Given the description of an element on the screen output the (x, y) to click on. 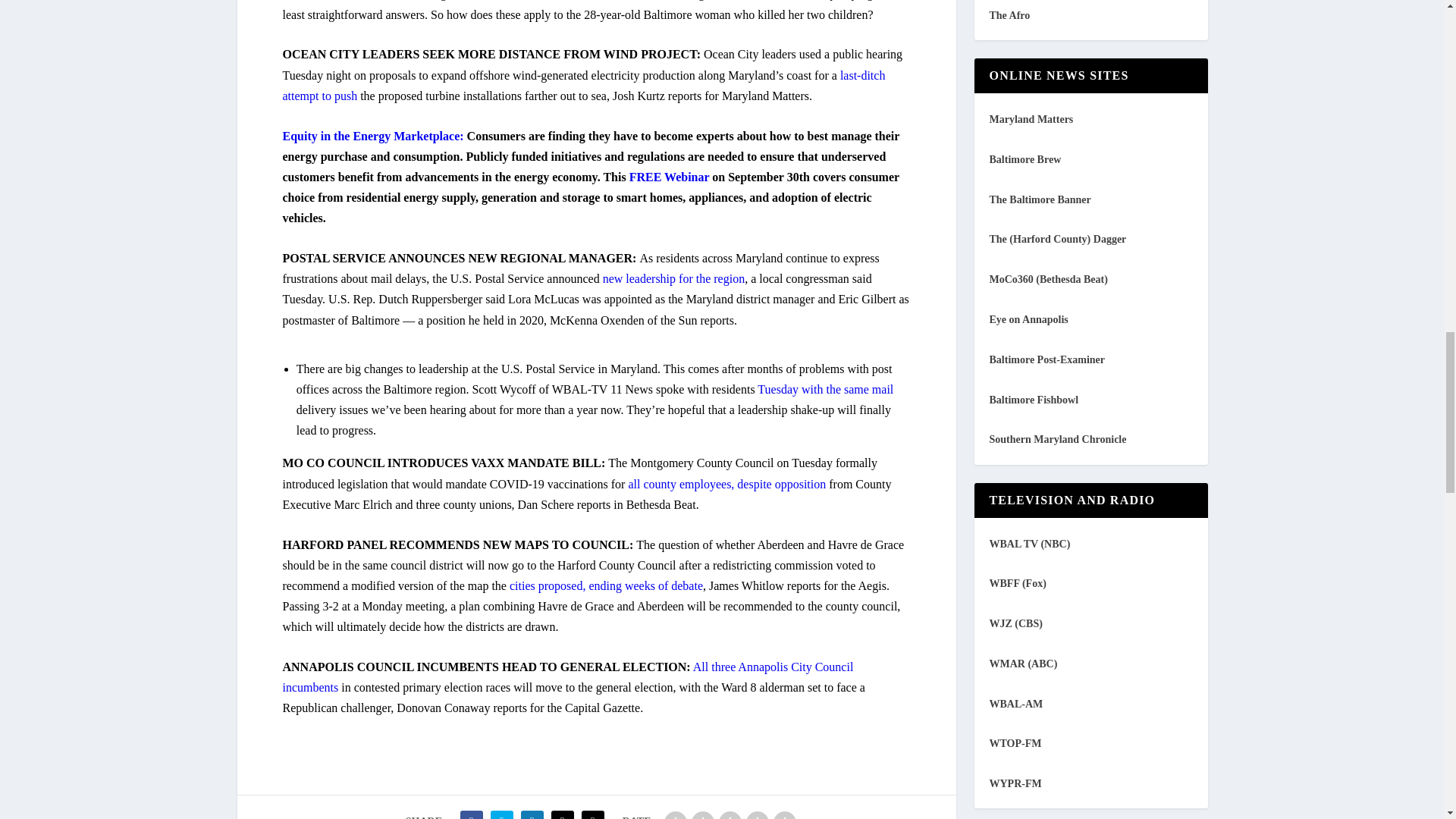
all county employees, despite opposition (726, 483)
good (756, 815)
new leadership for the region (673, 278)
All three Annapolis City Council incumbents (567, 676)
FREE Webinar (669, 176)
Equity in the Energy Marketplace: (372, 135)
last-ditch attempt to push (583, 85)
Tuesday with the same mail (825, 389)
gorgeous (784, 815)
cities proposed, ending weeks of debate (606, 585)
regular (730, 815)
bad (675, 815)
poor (702, 815)
